Given the description of an element on the screen output the (x, y) to click on. 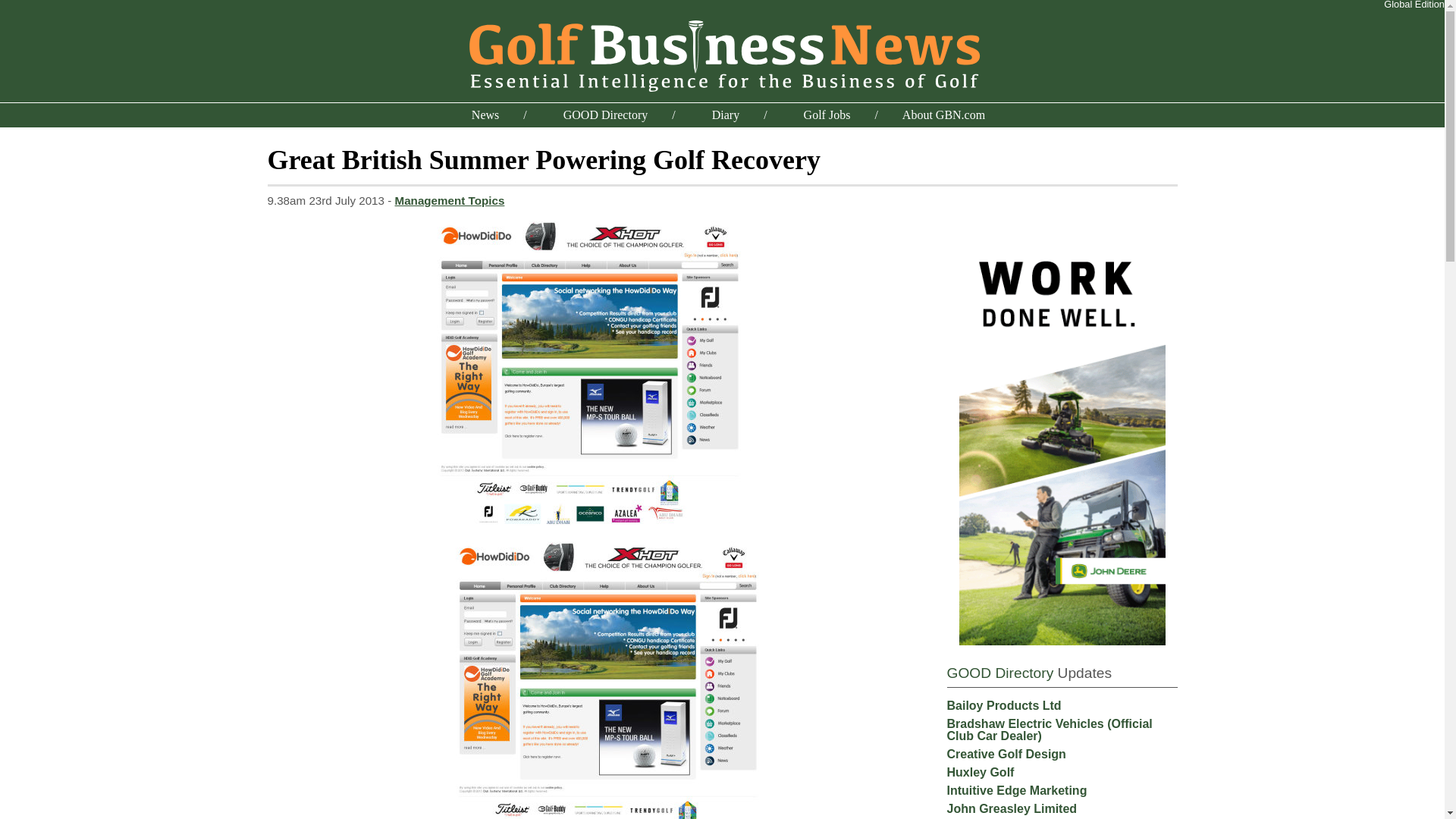
Management Topics (449, 200)
Diary (725, 114)
Huxley Golf (979, 771)
GOOD Directory (999, 672)
John Greasley Limited (1011, 808)
Conferences and exhibitions across the golfing world (725, 114)
HowDidiDo website (587, 373)
GBN Home (722, 52)
Creative Golf Design (1005, 753)
All the latest news from the golf industry (485, 114)
